Given the description of an element on the screen output the (x, y) to click on. 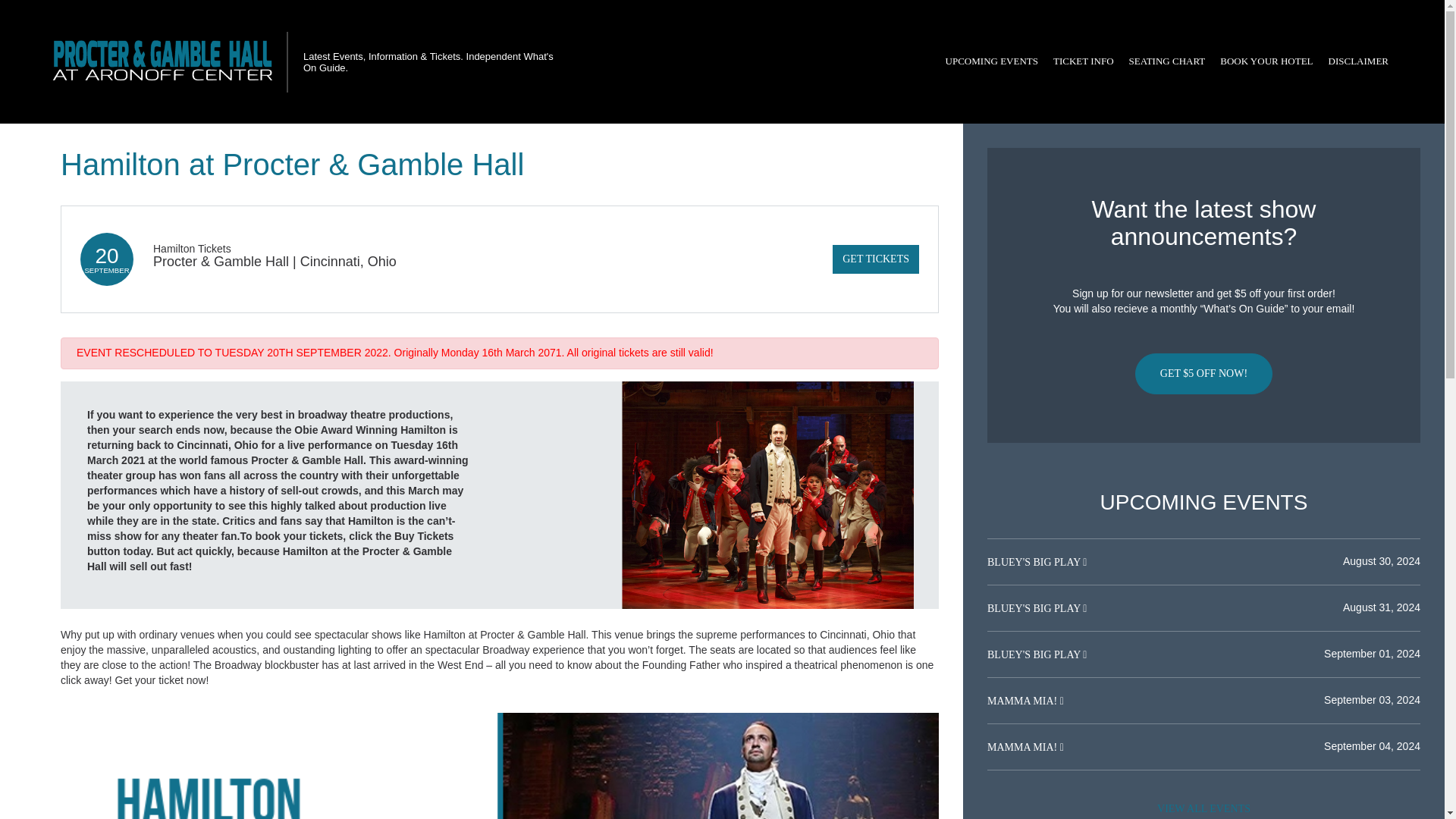
SEATING CHART (1166, 61)
UPCOMING EVENTS (991, 61)
GET TICKETS (875, 258)
BLUEY'S BIG PLAY (1035, 608)
BLUEY'S BIG PLAY (1035, 562)
DISCLAIMER (1358, 61)
VIEW ALL EVENTS (1203, 806)
Hamilton Tickets (191, 248)
BOOK YOUR HOTEL (1266, 61)
TICKET INFO (1083, 61)
MAMMA MIA! (1023, 700)
